Given the description of an element on the screen output the (x, y) to click on. 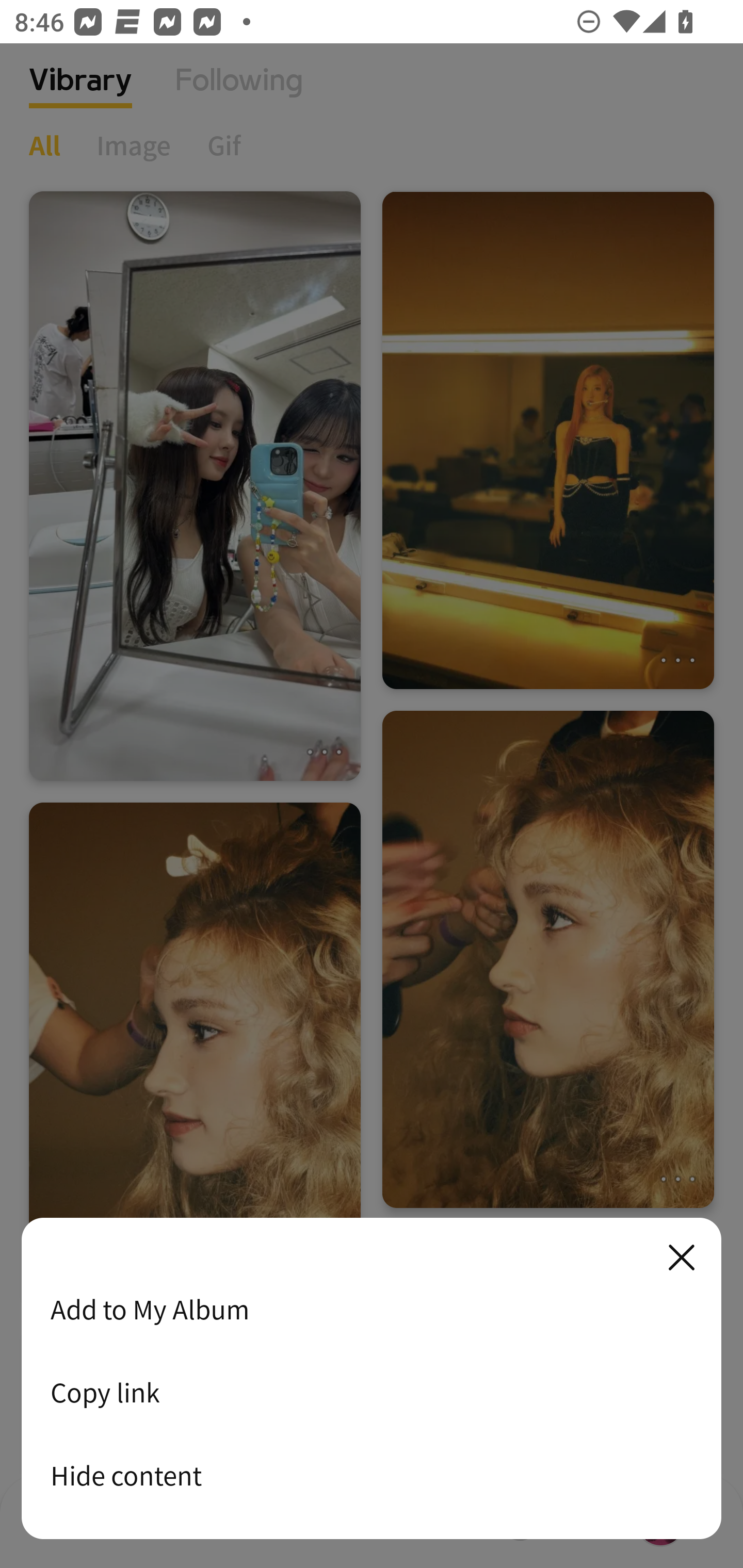
Add to My Album Copy link Hide content (371, 1378)
Add to My Album (371, 1308)
Copy link (371, 1391)
Hide content (371, 1474)
